Given the description of an element on the screen output the (x, y) to click on. 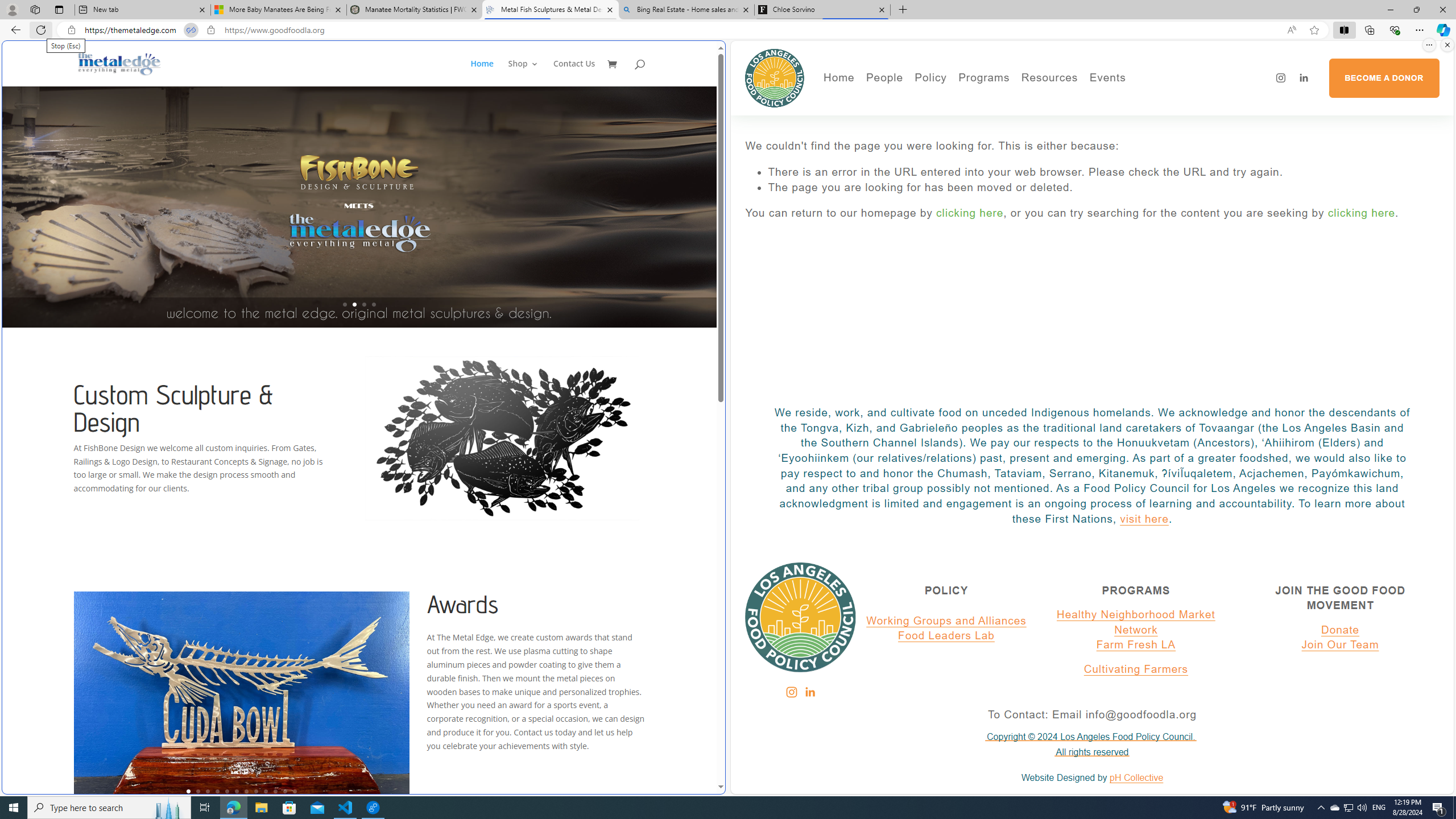
Publications (994, 116)
5 (226, 790)
Good Food Zones (1093, 99)
Metal Fish Sculptures & Metal Designs (119, 63)
LA Foodscapes (1146, 116)
More options. (1428, 45)
Resources (1049, 77)
Working Groups and Alliances (946, 620)
Events (1146, 99)
